Given the description of an element on the screen output the (x, y) to click on. 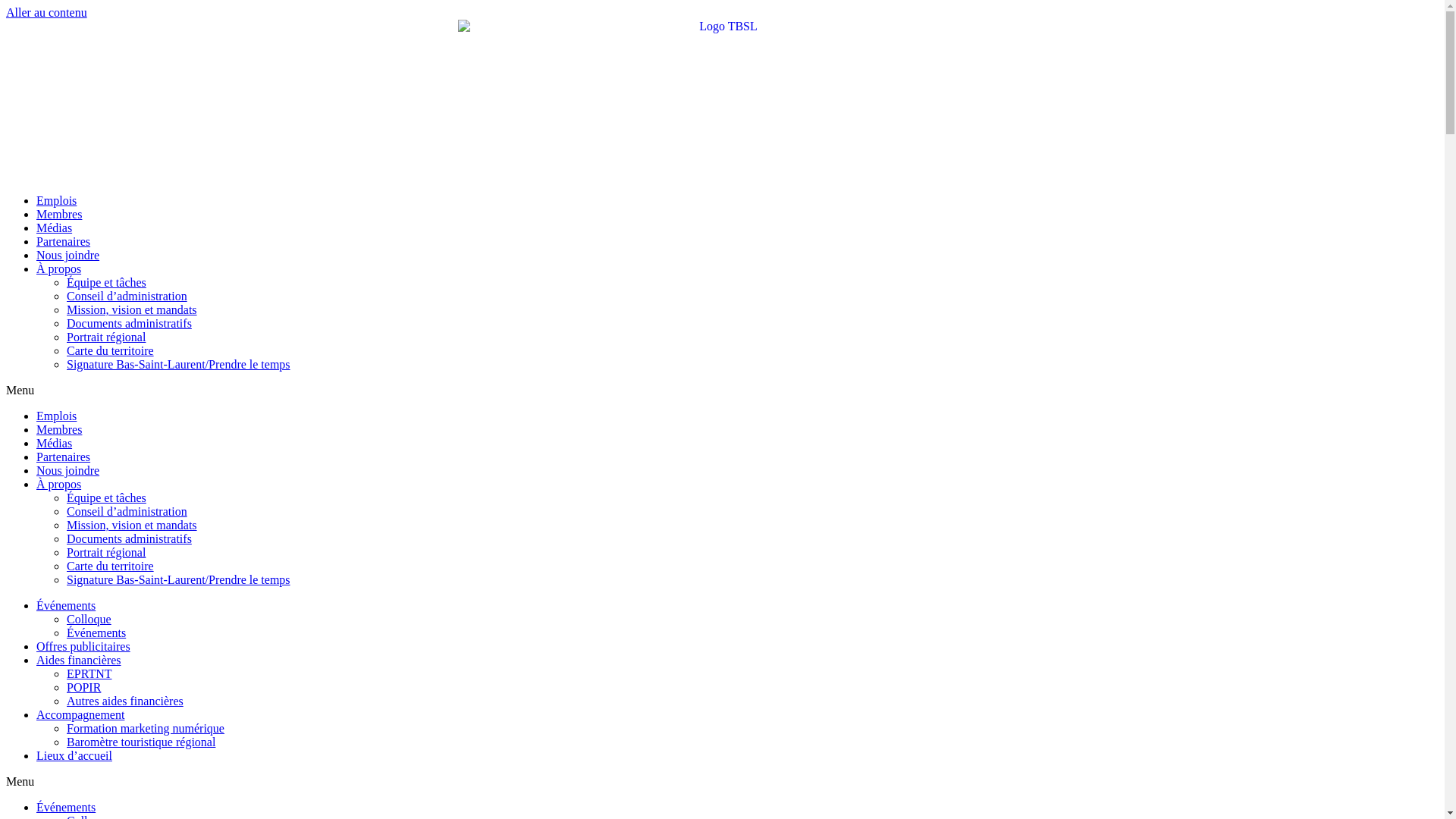
Offres publicitaires Element type: text (83, 646)
Carte du territoire Element type: text (109, 350)
Carte du territoire Element type: text (109, 565)
Documents administratifs Element type: text (128, 538)
Signature Bas-Saint-Laurent/Prendre le temps Element type: text (178, 579)
Emplois Element type: text (56, 200)
Colloque Element type: text (88, 618)
Mission, vision et mandats Element type: text (131, 309)
Emplois Element type: text (56, 415)
EPRTNT Element type: text (88, 673)
POPIR Element type: text (83, 686)
Accompagnement Element type: text (80, 714)
Aller au contenu Element type: text (46, 12)
Membres Element type: text (58, 213)
Partenaires Element type: text (63, 241)
Signature Bas-Saint-Laurent/Prendre le temps Element type: text (178, 363)
Nous joindre Element type: text (67, 470)
Nous joindre Element type: text (67, 254)
Mission, vision et mandats Element type: text (131, 524)
Partenaires Element type: text (63, 456)
Documents administratifs Element type: text (128, 322)
Membres Element type: text (58, 429)
